Given the description of an element on the screen output the (x, y) to click on. 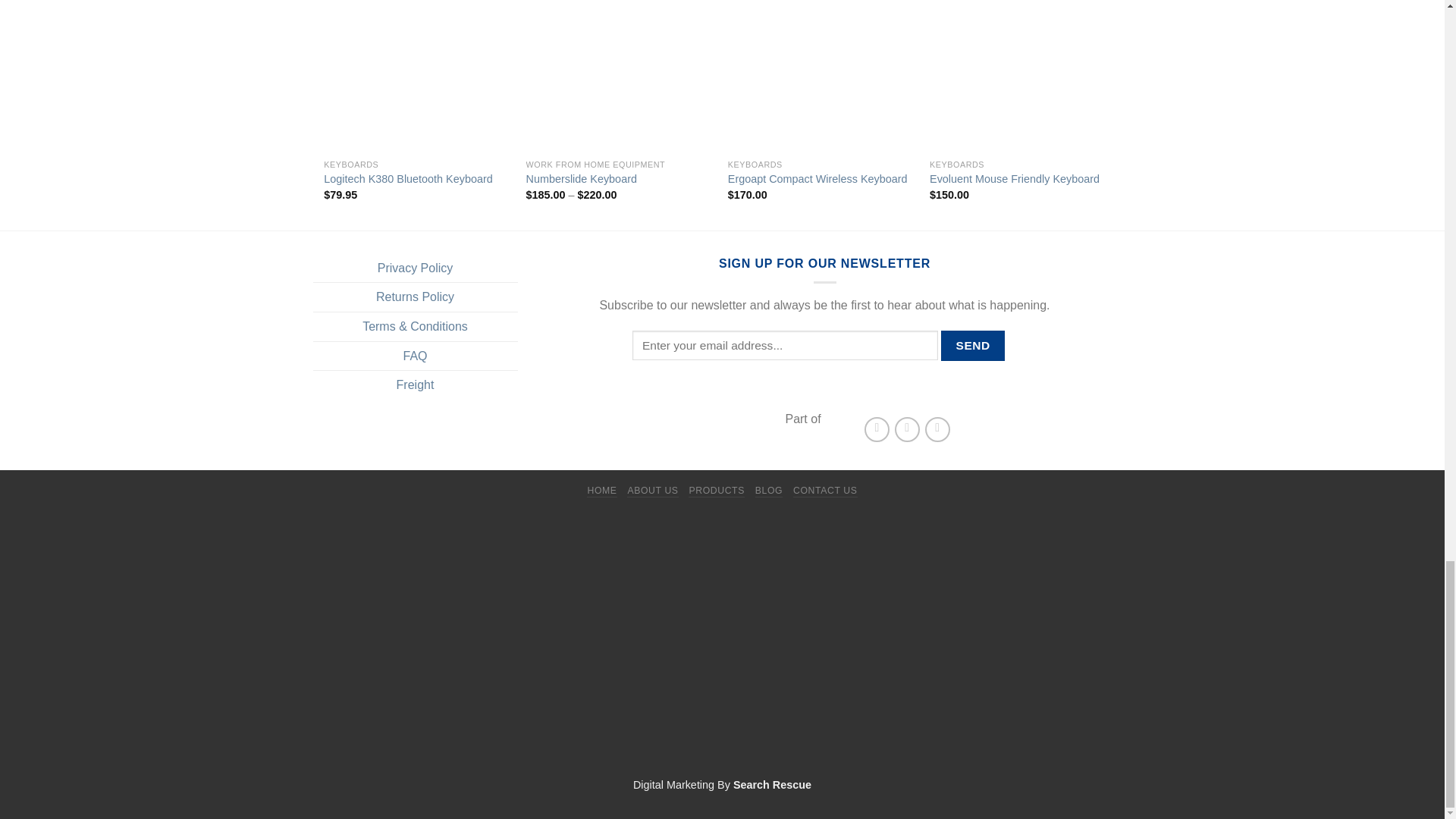
Follow on Facebook (876, 429)
Send (972, 345)
Follow on Twitter (907, 429)
Follow on YouTube (937, 429)
